Given the description of an element on the screen output the (x, y) to click on. 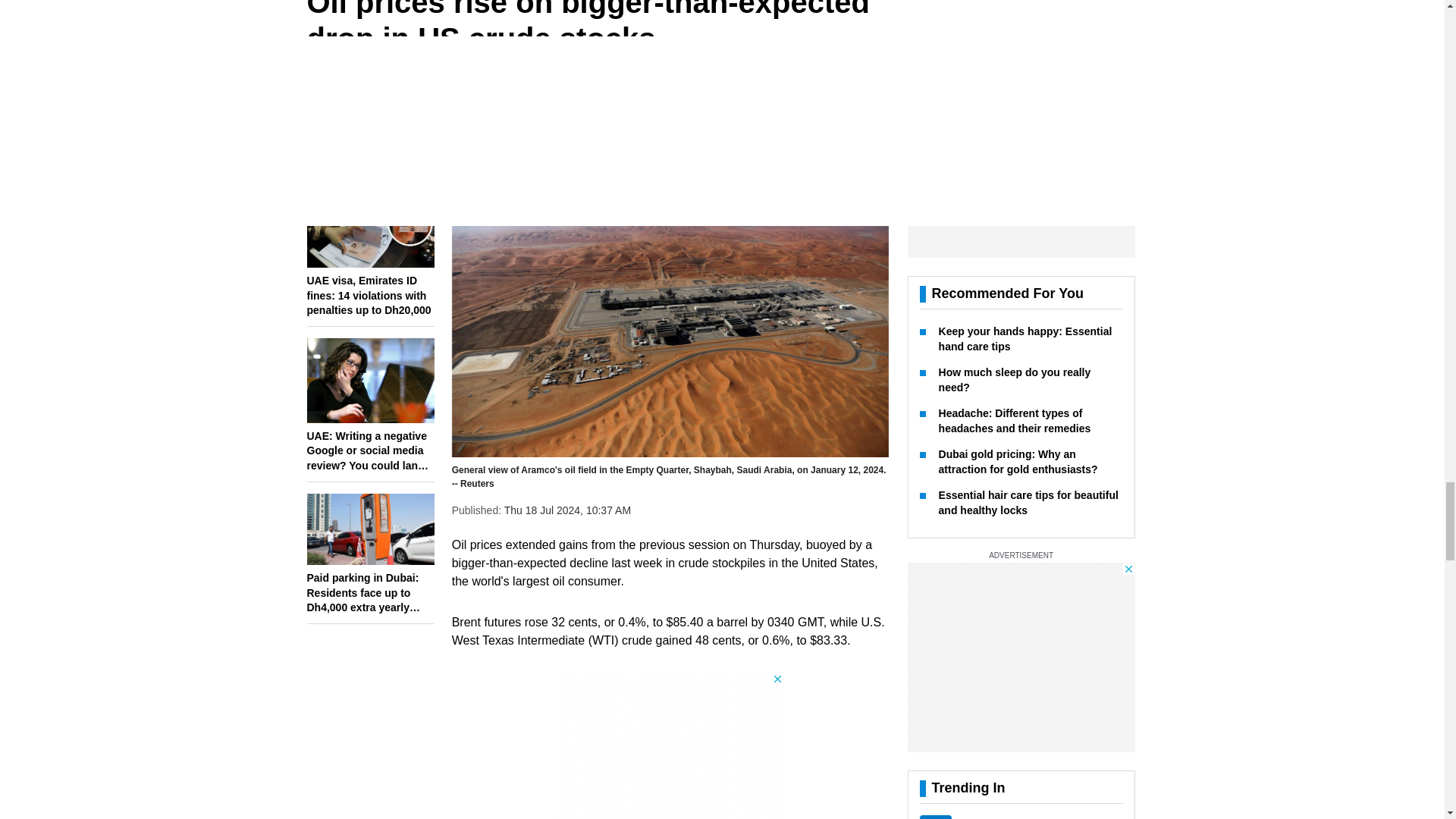
3rd party ad content (1021, 561)
3rd party ad content (670, 745)
3rd party ad content (1021, 81)
